Given the description of an element on the screen output the (x, y) to click on. 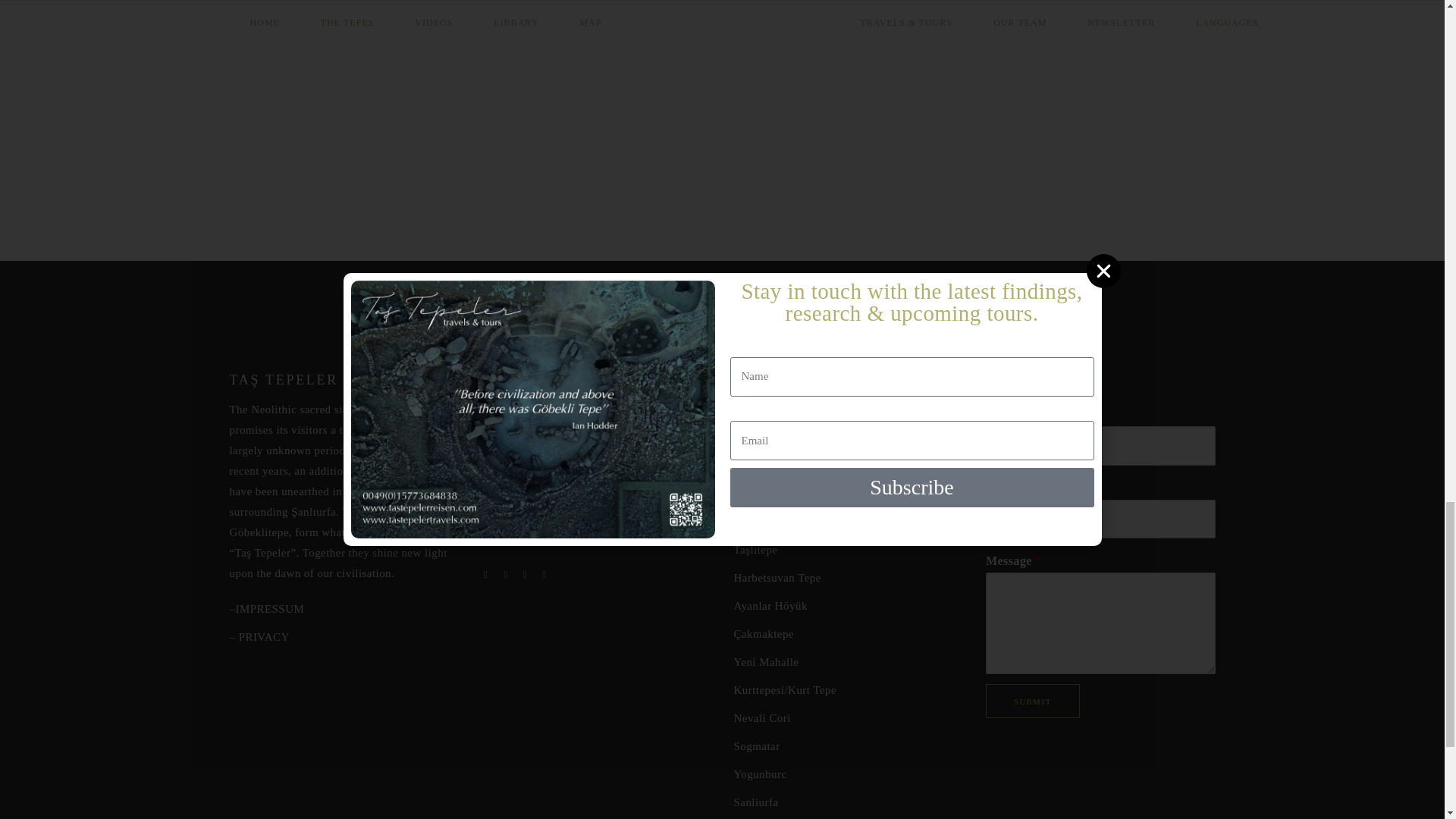
Submit (1032, 700)
